Given the description of an element on the screen output the (x, y) to click on. 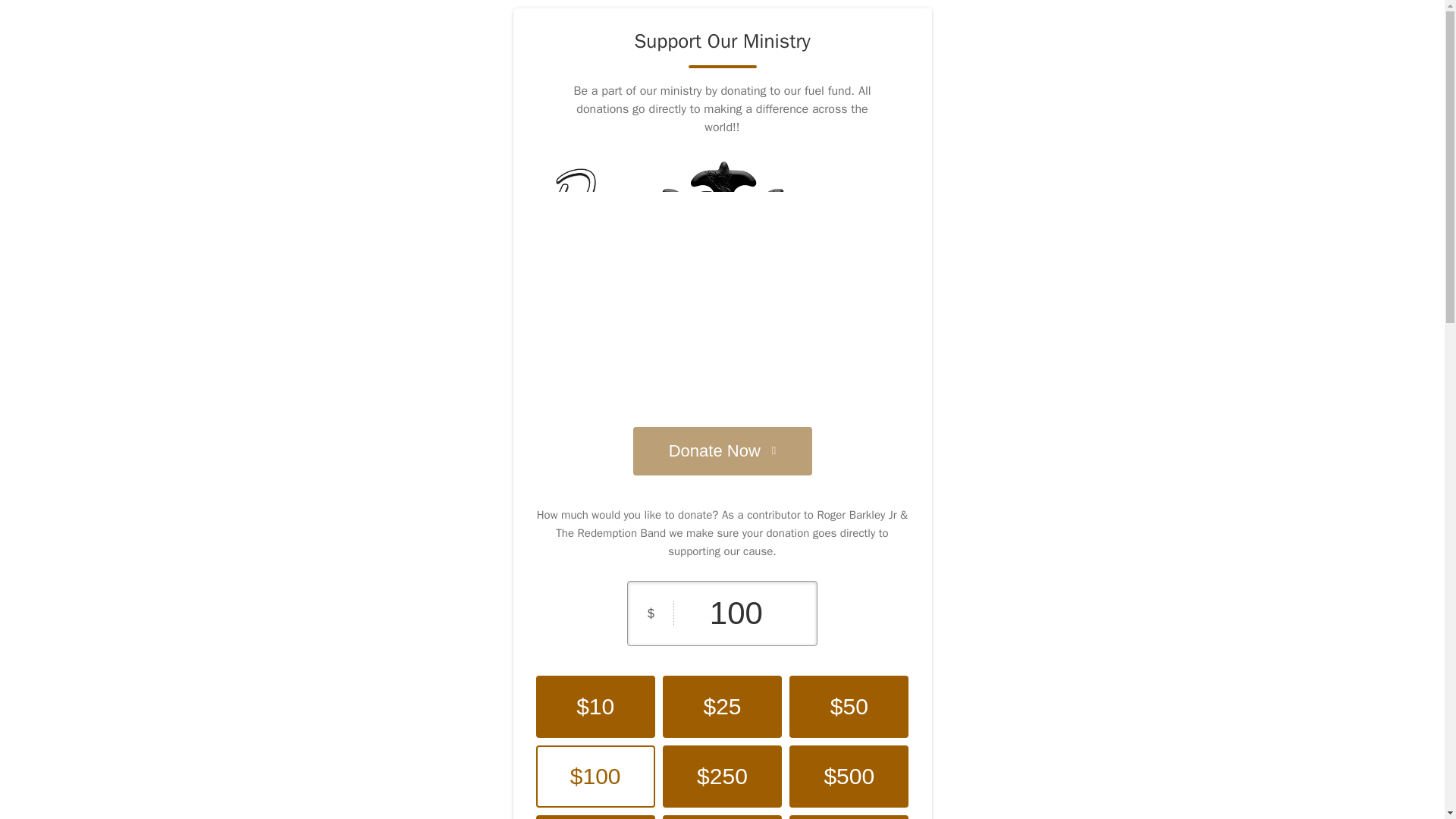
100 (735, 613)
Custom Amount (848, 816)
Donate Now (720, 450)
